Given the description of an element on the screen output the (x, y) to click on. 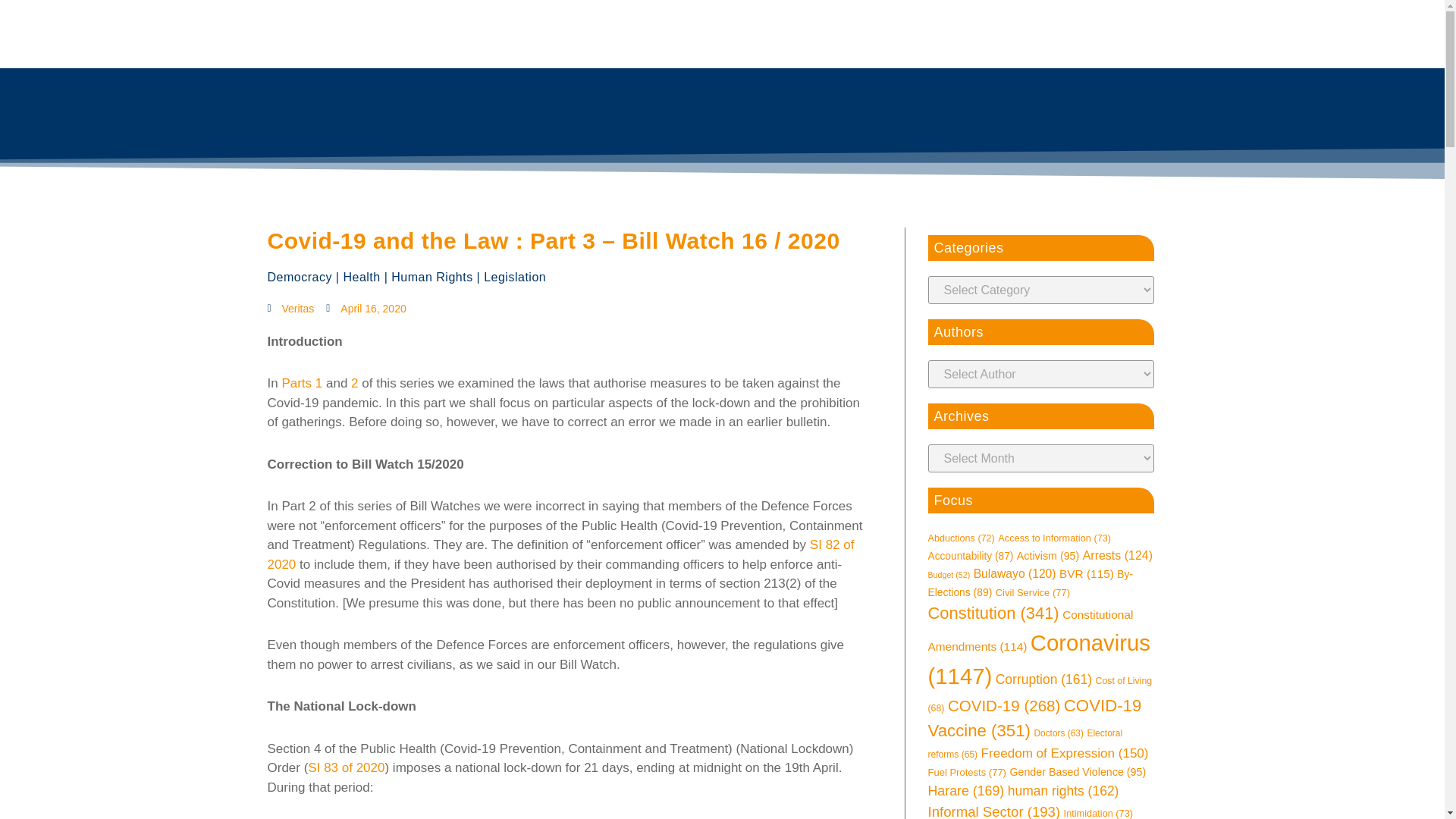
Democracy (298, 277)
Legislation (514, 277)
SI 83 of 2020 (345, 767)
Health (361, 277)
Parts 1 (301, 382)
Human Rights (431, 277)
April 16, 2020 (366, 308)
SI 82 of 2020 (559, 554)
Veritas (290, 308)
